Given the description of an element on the screen output the (x, y) to click on. 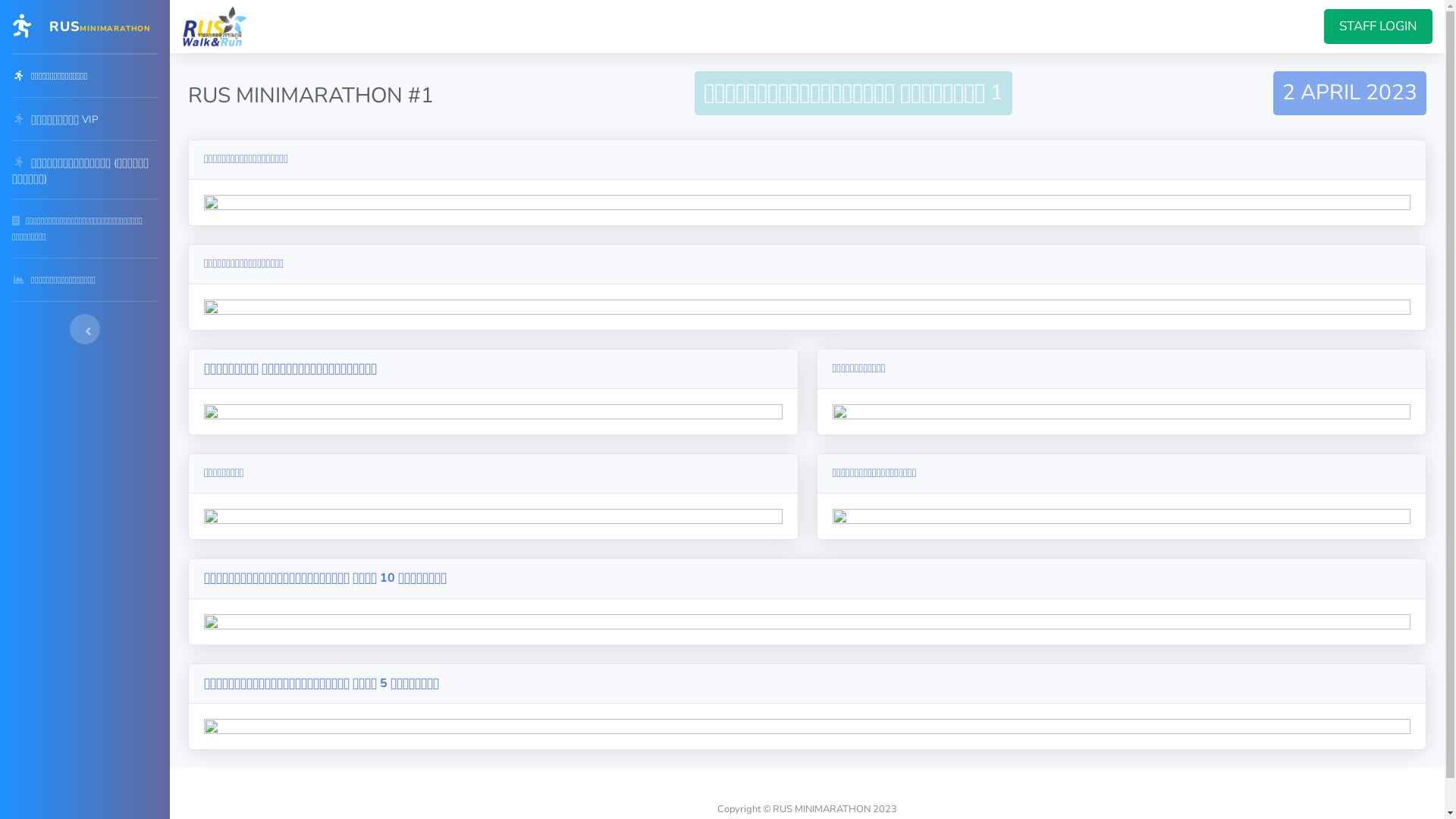
RUSMINIMARATHON Element type: text (84, 26)
STAFF LOGIN Element type: text (1378, 26)
